Given the description of an element on the screen output the (x, y) to click on. 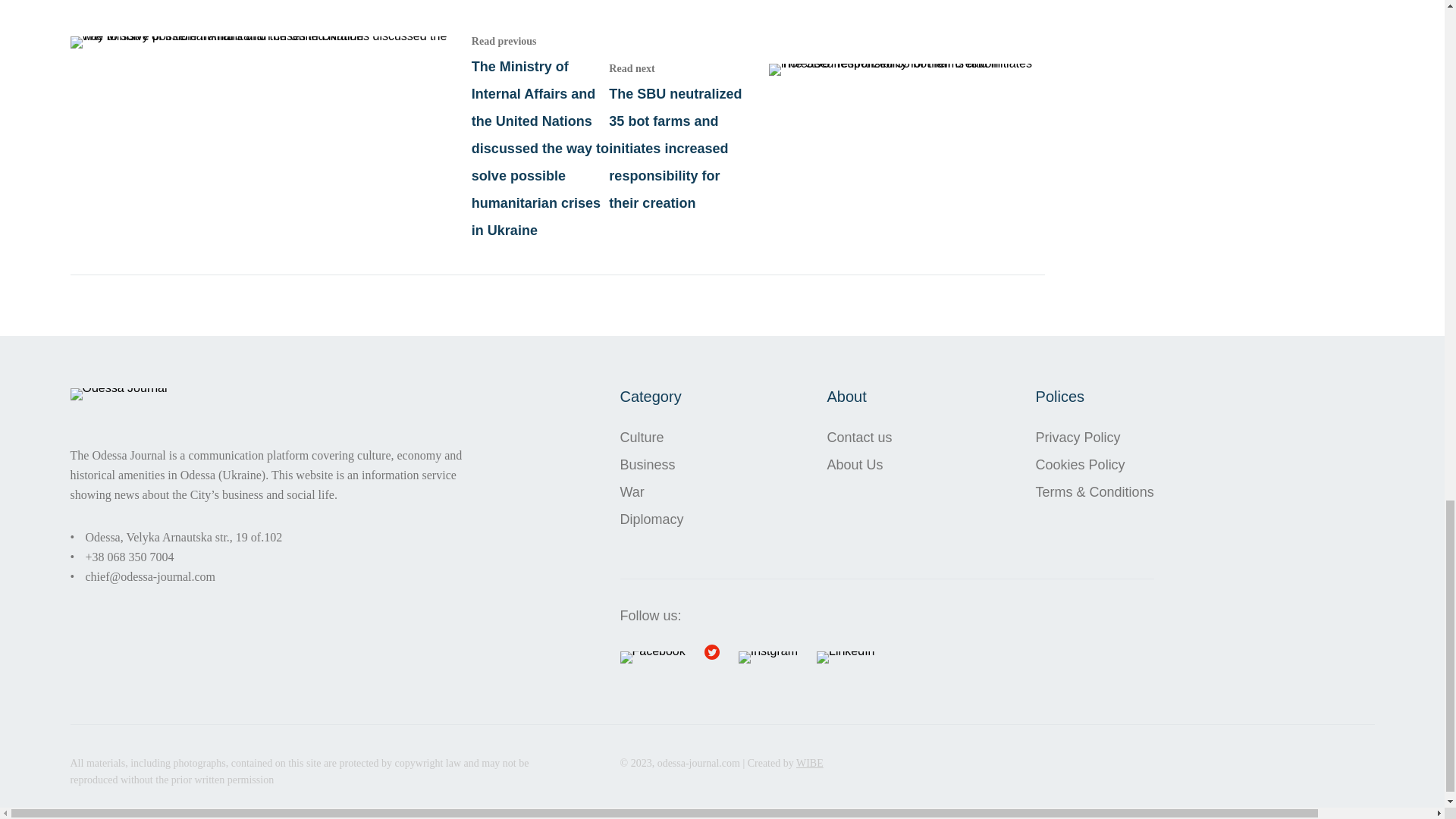
Odessa, Velyka Arnautska str., 19 of.102 (183, 536)
Diplomacy (652, 519)
Privacy Policy (1094, 437)
Read (338, 136)
Contact us (859, 437)
Cookies Policy (1094, 464)
About Us (859, 464)
Culture (652, 437)
Business (652, 464)
Read (825, 136)
Culture (652, 437)
War (652, 492)
